Given the description of an element on the screen output the (x, y) to click on. 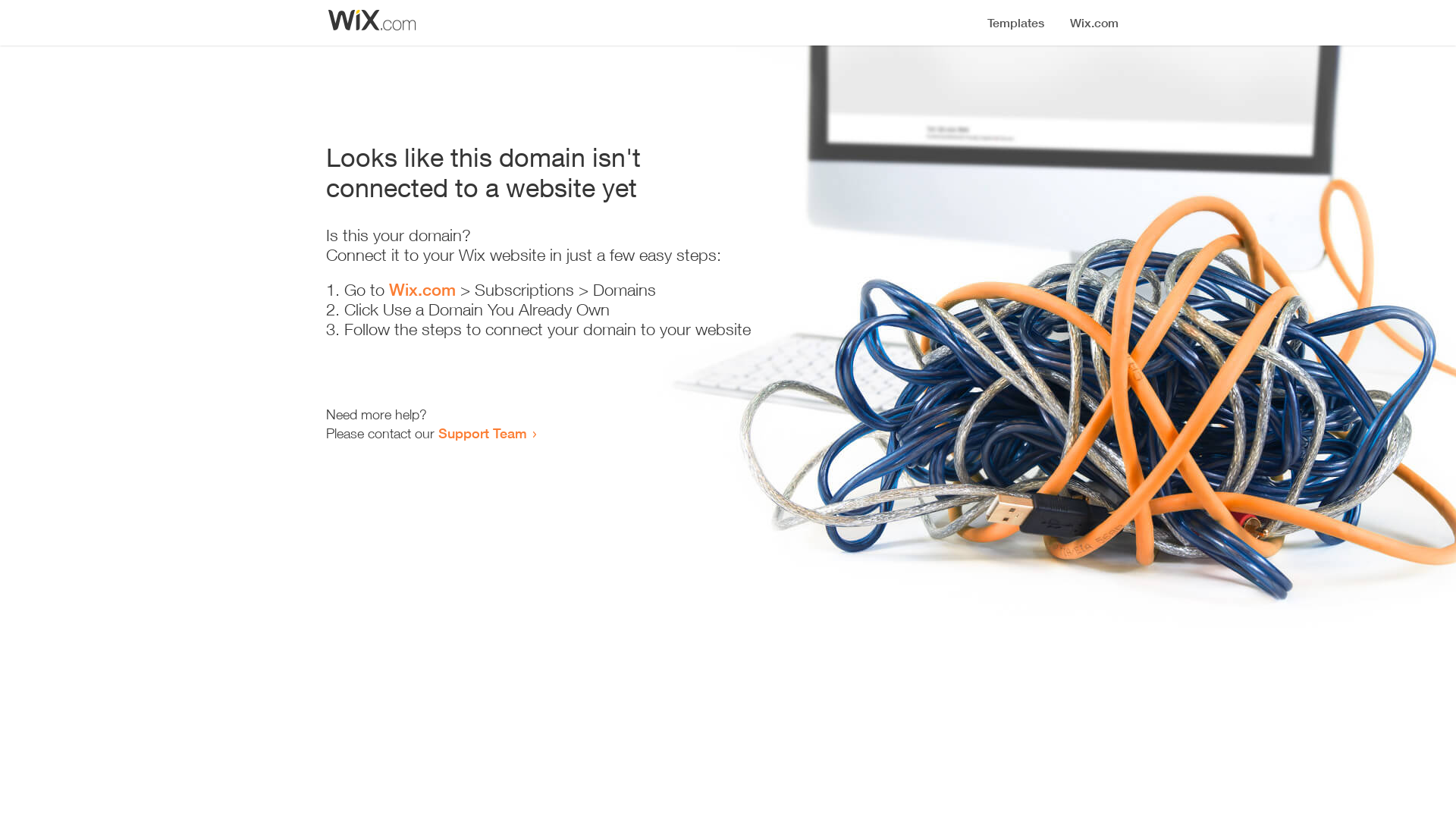
Wix.com Element type: text (422, 289)
Support Team Element type: text (482, 432)
